Given the description of an element on the screen output the (x, y) to click on. 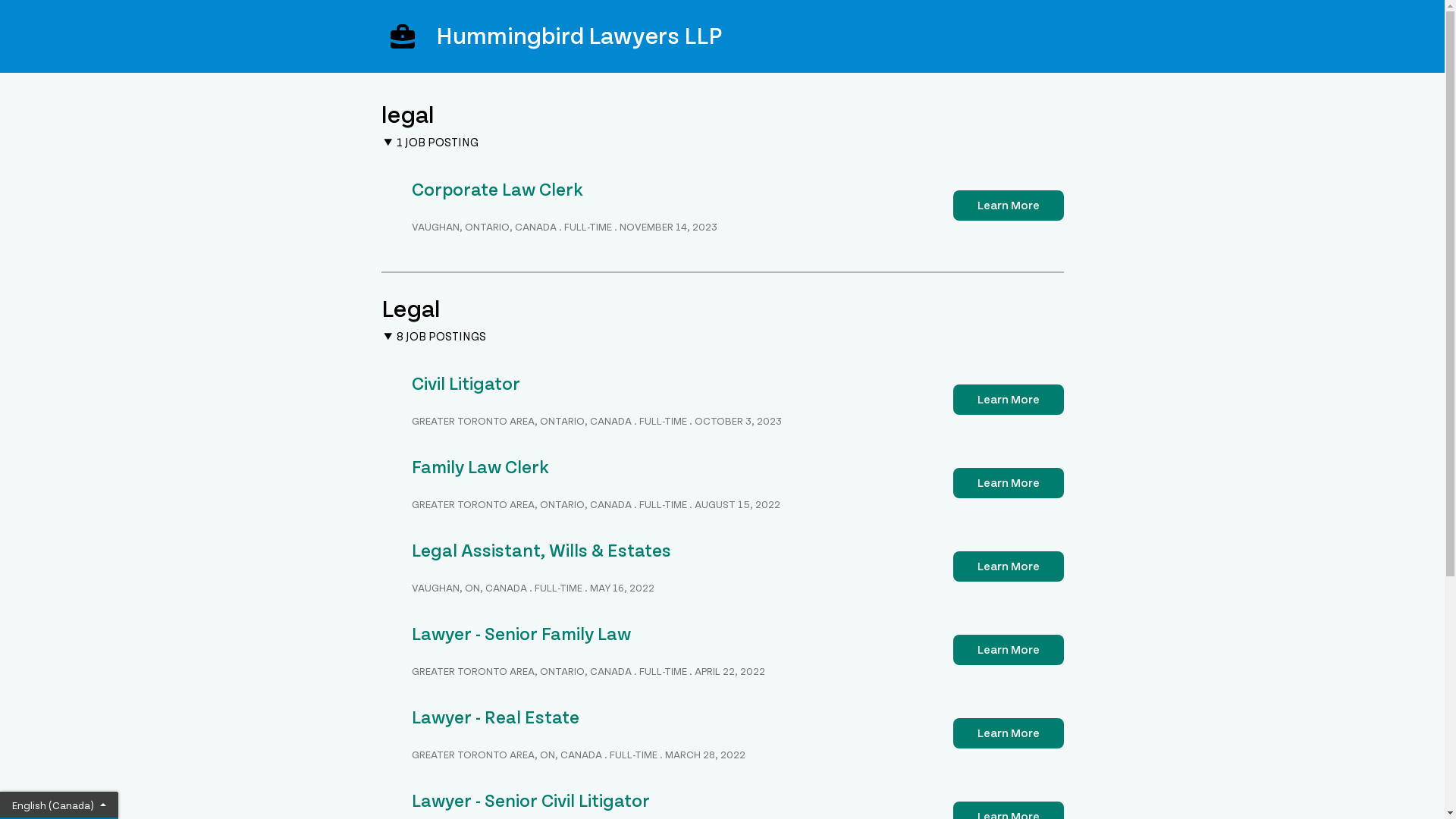
Lawyer - Senior Civil Litigator Element type: text (530, 800)
Hummingbird Lawyers LLP Element type: text (721, 36)
Lawyer - Real Estate Element type: text (494, 717)
Learn More Element type: text (1007, 649)
Learn More Element type: text (1007, 399)
Civil Litigator Element type: text (465, 383)
Learn More Element type: text (1007, 482)
Learn More Element type: text (1007, 205)
Learn More Element type: text (1007, 733)
Lawyer - Senior Family Law Element type: text (520, 633)
Legal Assistant, Wills & Estates Element type: text (540, 550)
Corporate Law Clerk Element type: text (496, 189)
Learn More Element type: text (1007, 566)
Family Law Clerk Element type: text (479, 467)
